Given the description of an element on the screen output the (x, y) to click on. 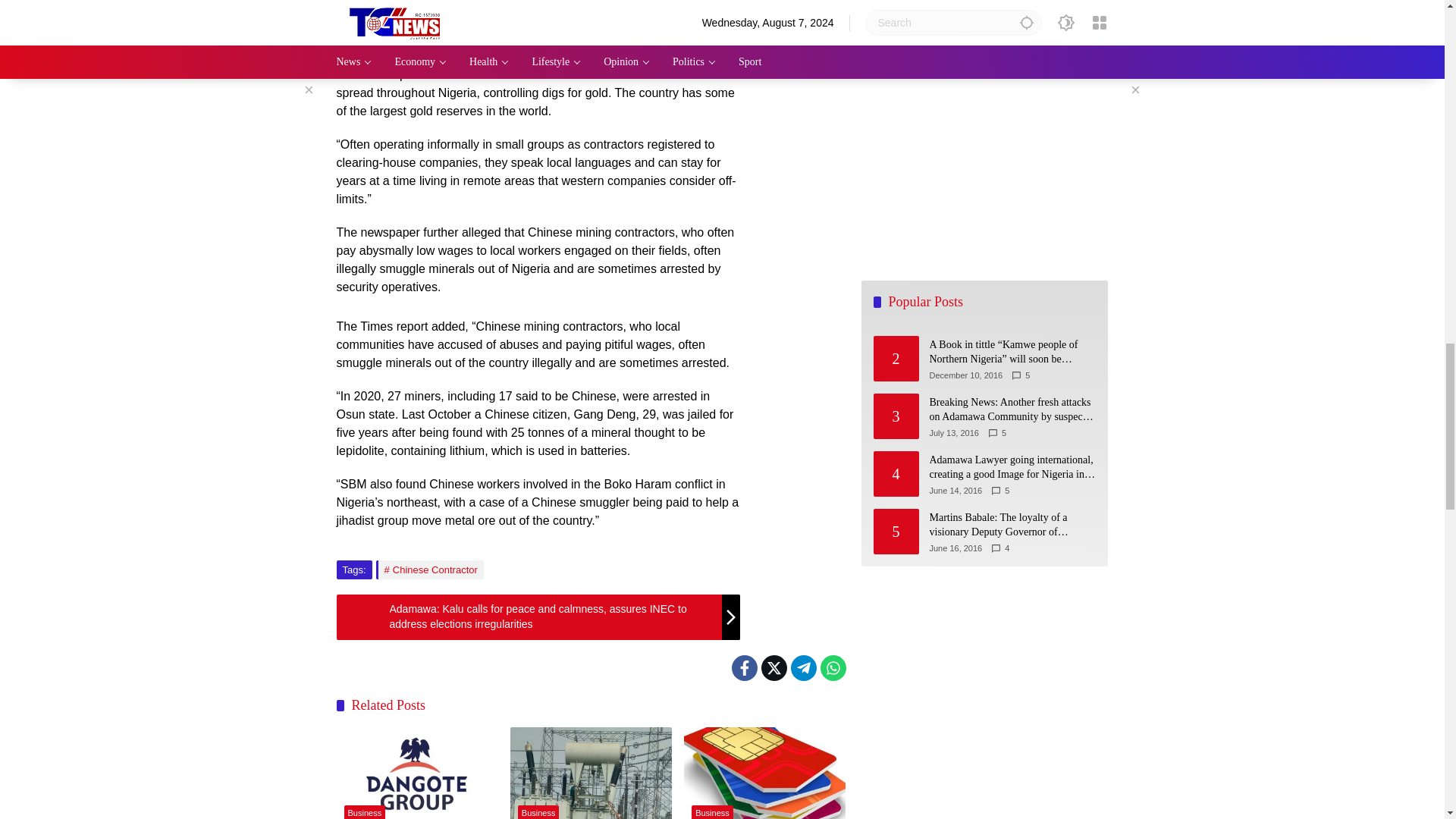
Chinese Contractor (429, 568)
